Given the description of an element on the screen output the (x, y) to click on. 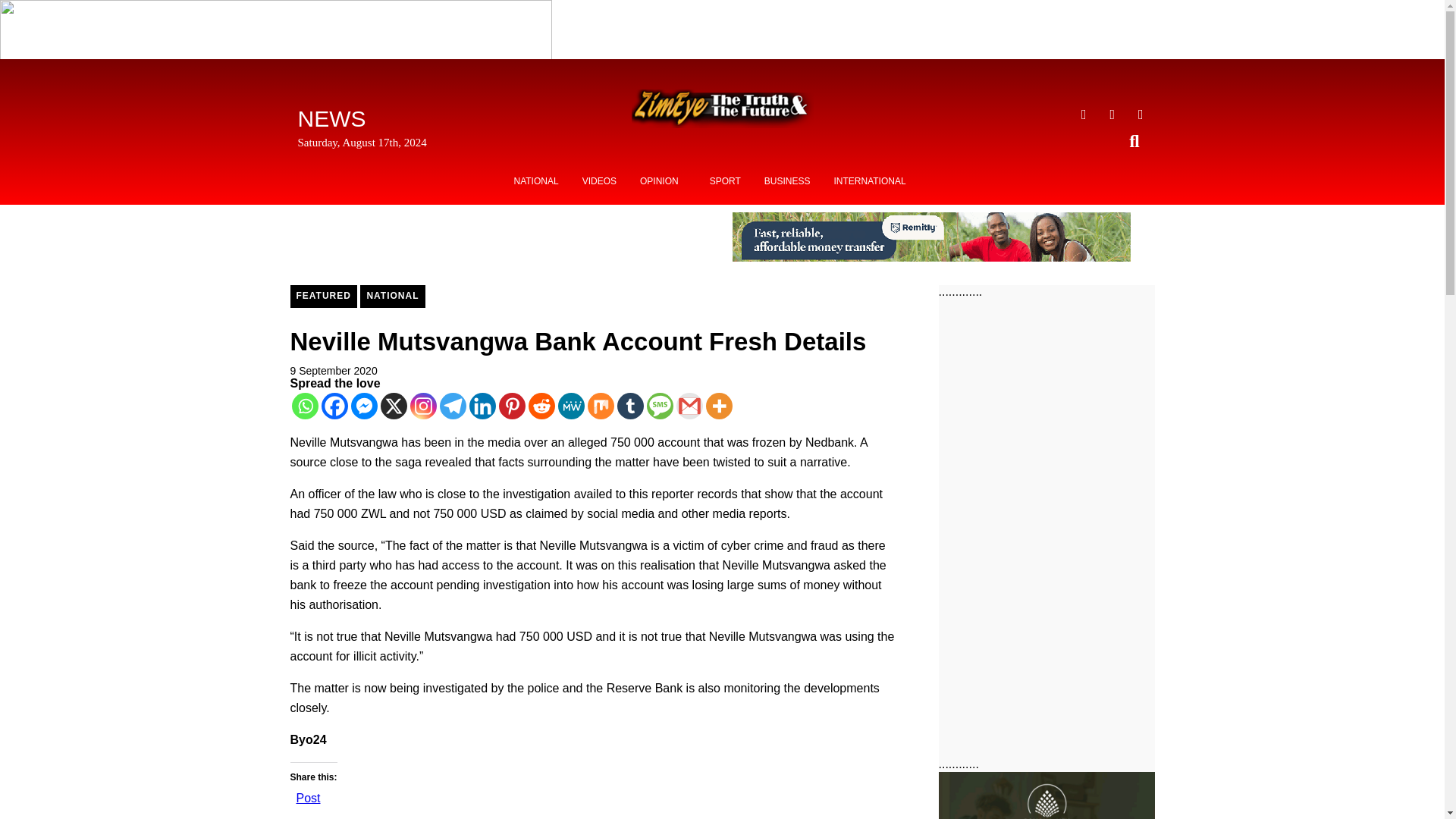
BUSINESS (787, 181)
Pinterest (512, 406)
Mix (599, 406)
Facebook Messenger (363, 406)
SPORT (725, 181)
Telegram (452, 406)
NATIONAL (392, 296)
INTERNATIONAL (868, 181)
OPINION (662, 181)
MeWe (571, 406)
